Given the description of an element on the screen output the (x, y) to click on. 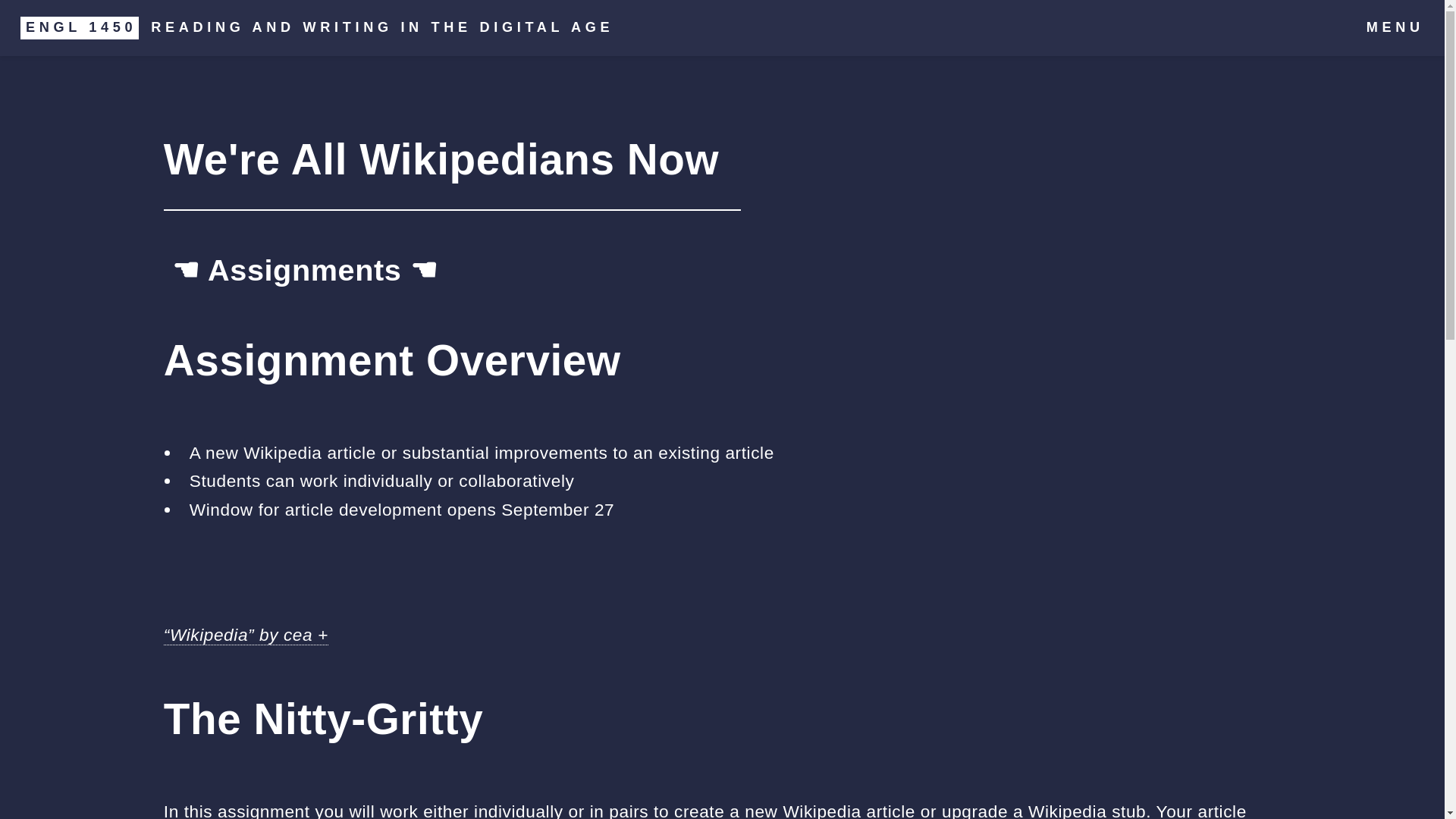
ENGL 1450 READING AND WRITING IN THE DIGITAL AGE (316, 28)
Wikipedia stub (1086, 810)
